Given the description of an element on the screen output the (x, y) to click on. 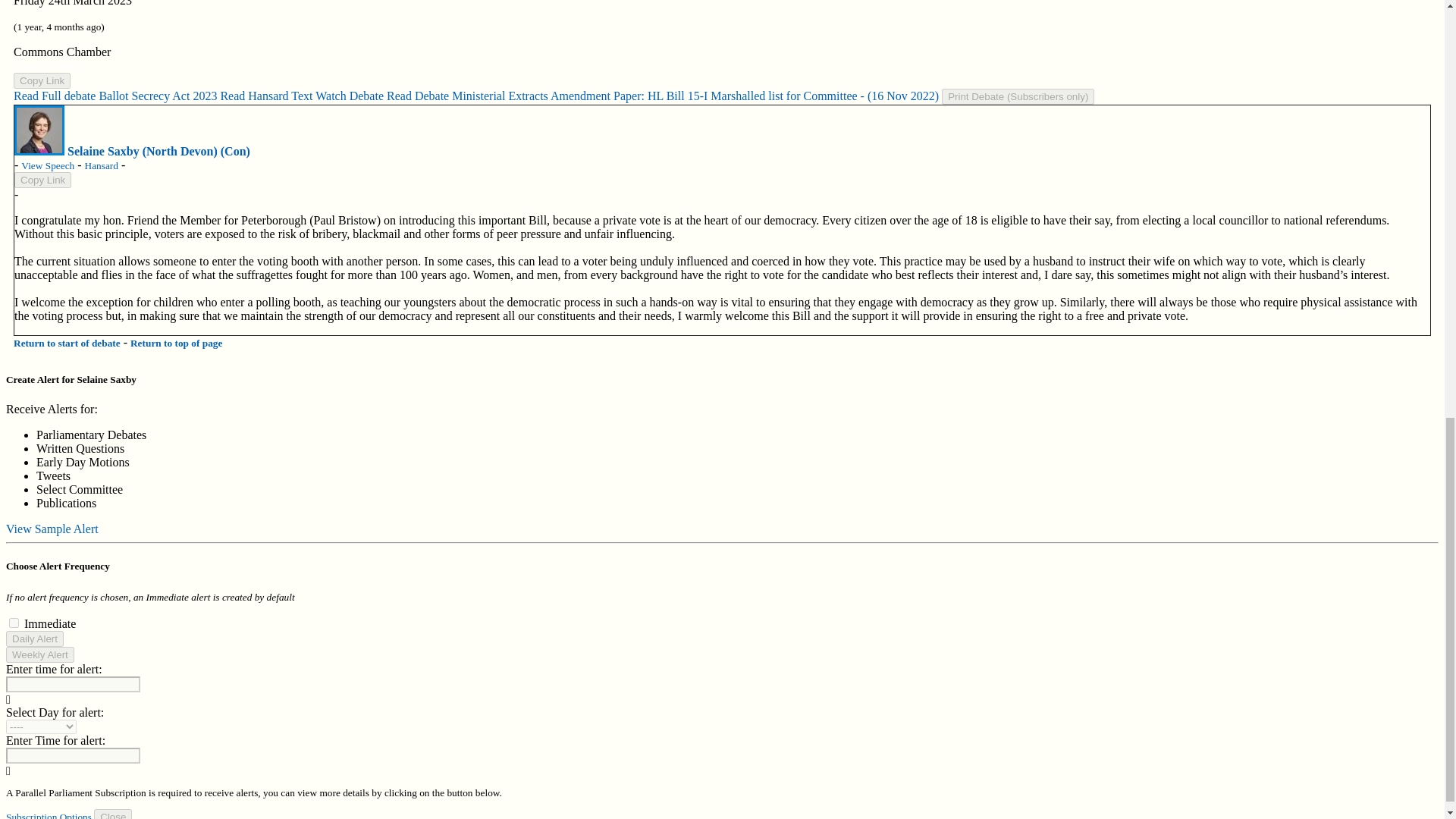
on (13, 623)
